Given the description of an element on the screen output the (x, y) to click on. 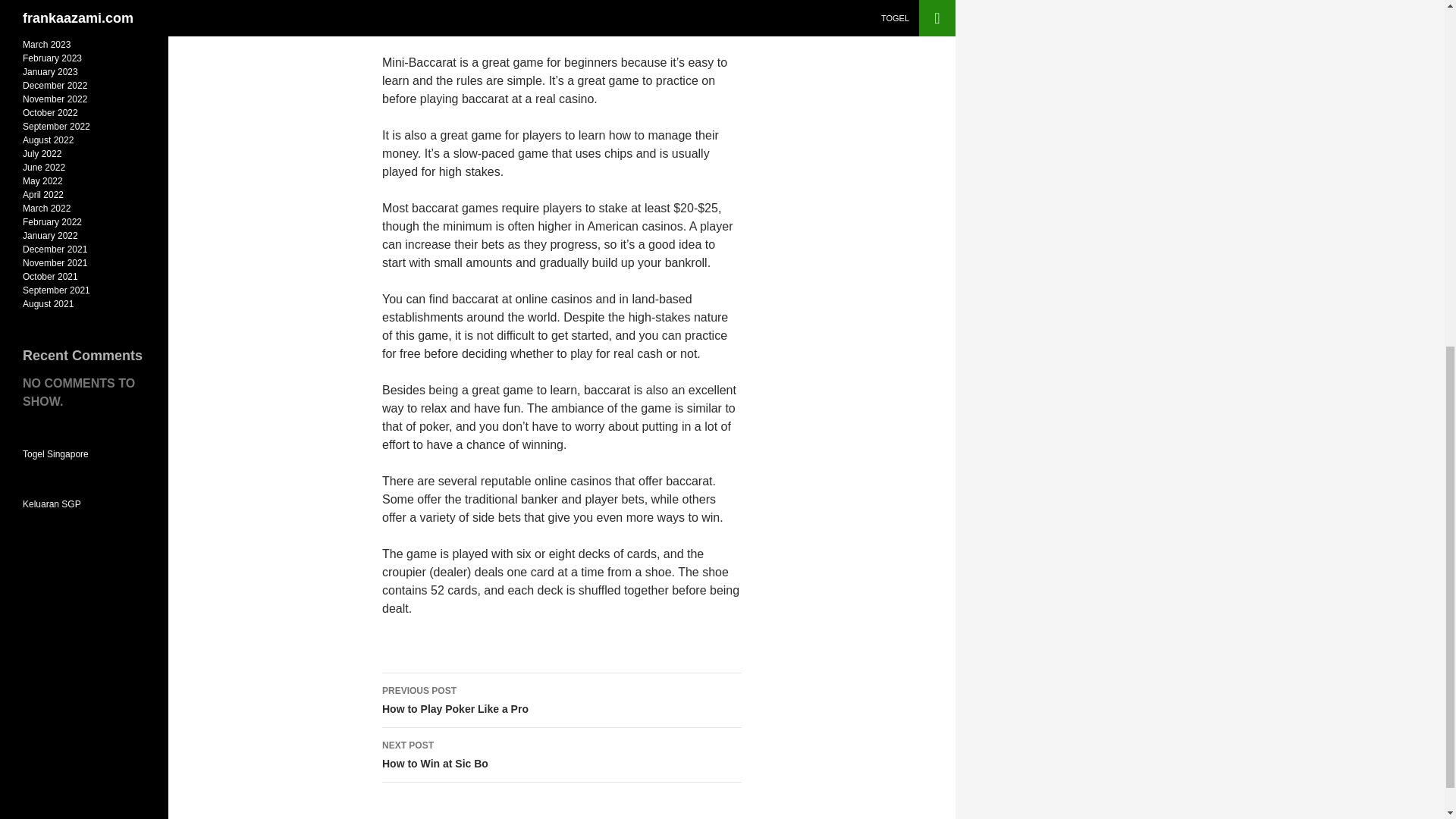
December 2022 (55, 85)
January 2023 (50, 71)
May 2023 (42, 17)
March 2023 (46, 44)
February 2023 (52, 58)
June 2023 (561, 700)
April 2023 (44, 4)
